Given the description of an element on the screen output the (x, y) to click on. 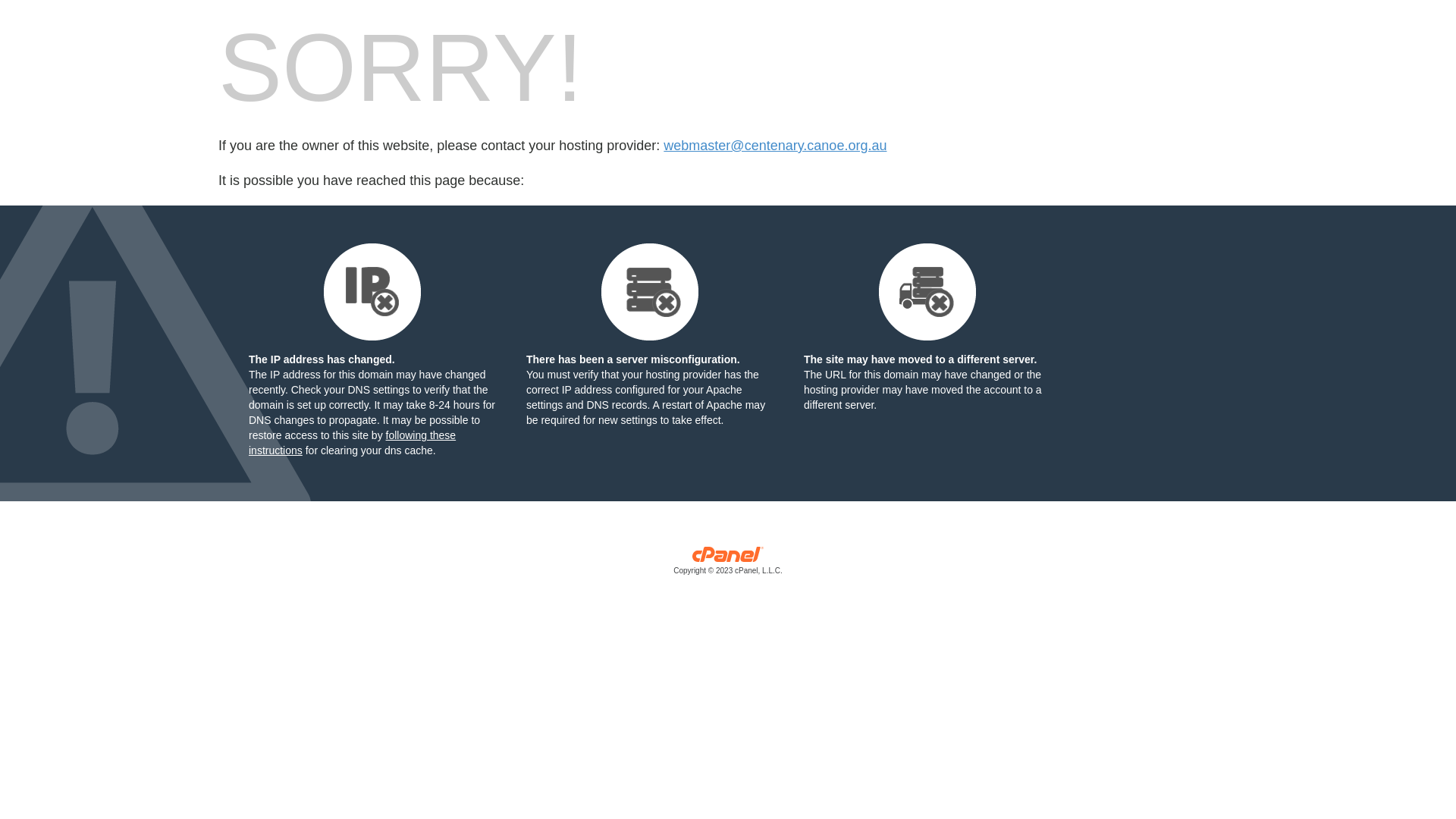
webmaster@centenary.canoe.org.au Element type: text (774, 145)
following these instructions Element type: text (351, 442)
